Given the description of an element on the screen output the (x, y) to click on. 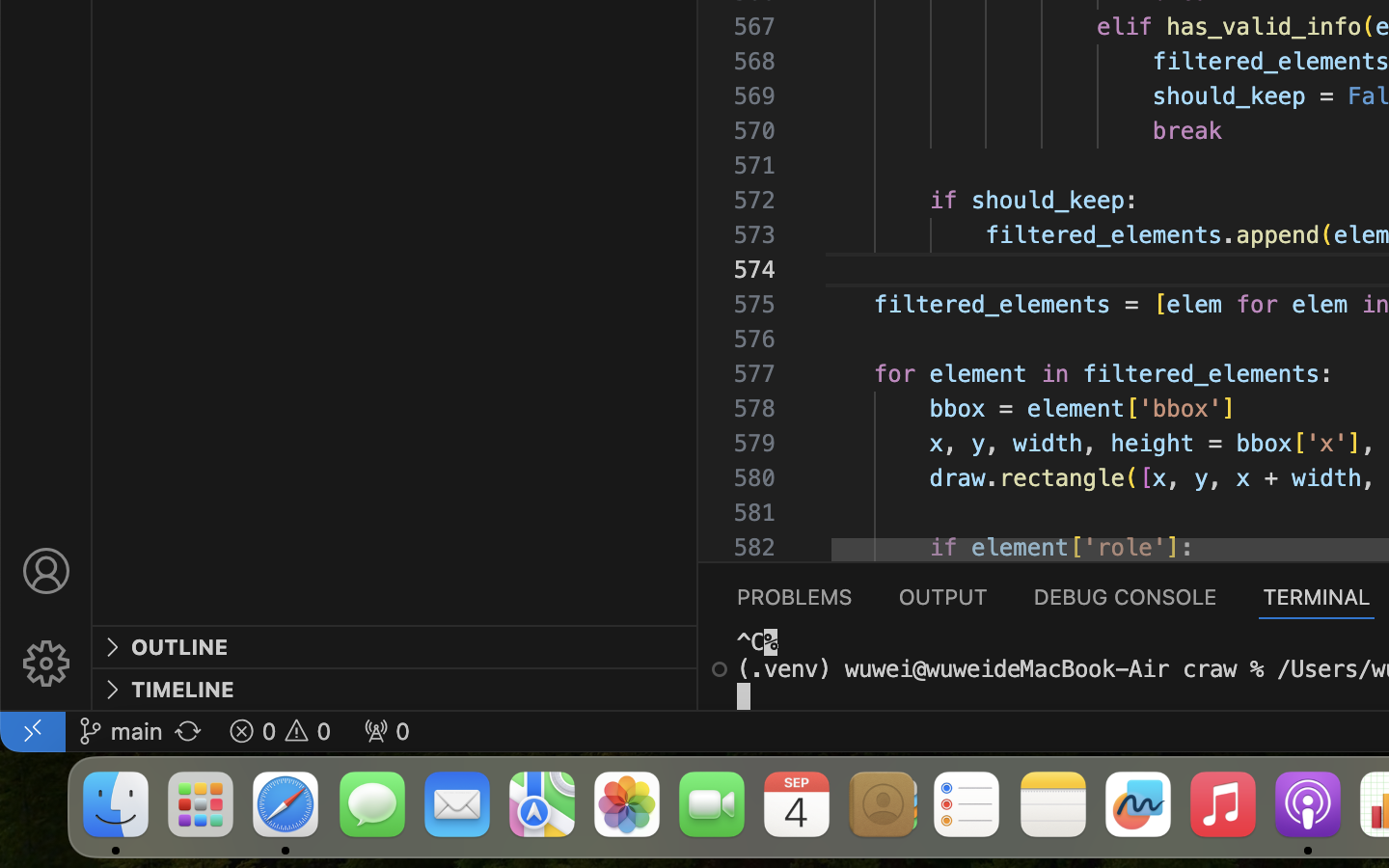
OUTLINE Element type: AXStaticText (180, 646)
 Element type: AXStaticText (111, 647)
main  Element type: AXButton (120, 730)
 Element type: AXGroup (46, 663)
 Element type: AXStaticText (46, 570)
